Given the description of an element on the screen output the (x, y) to click on. 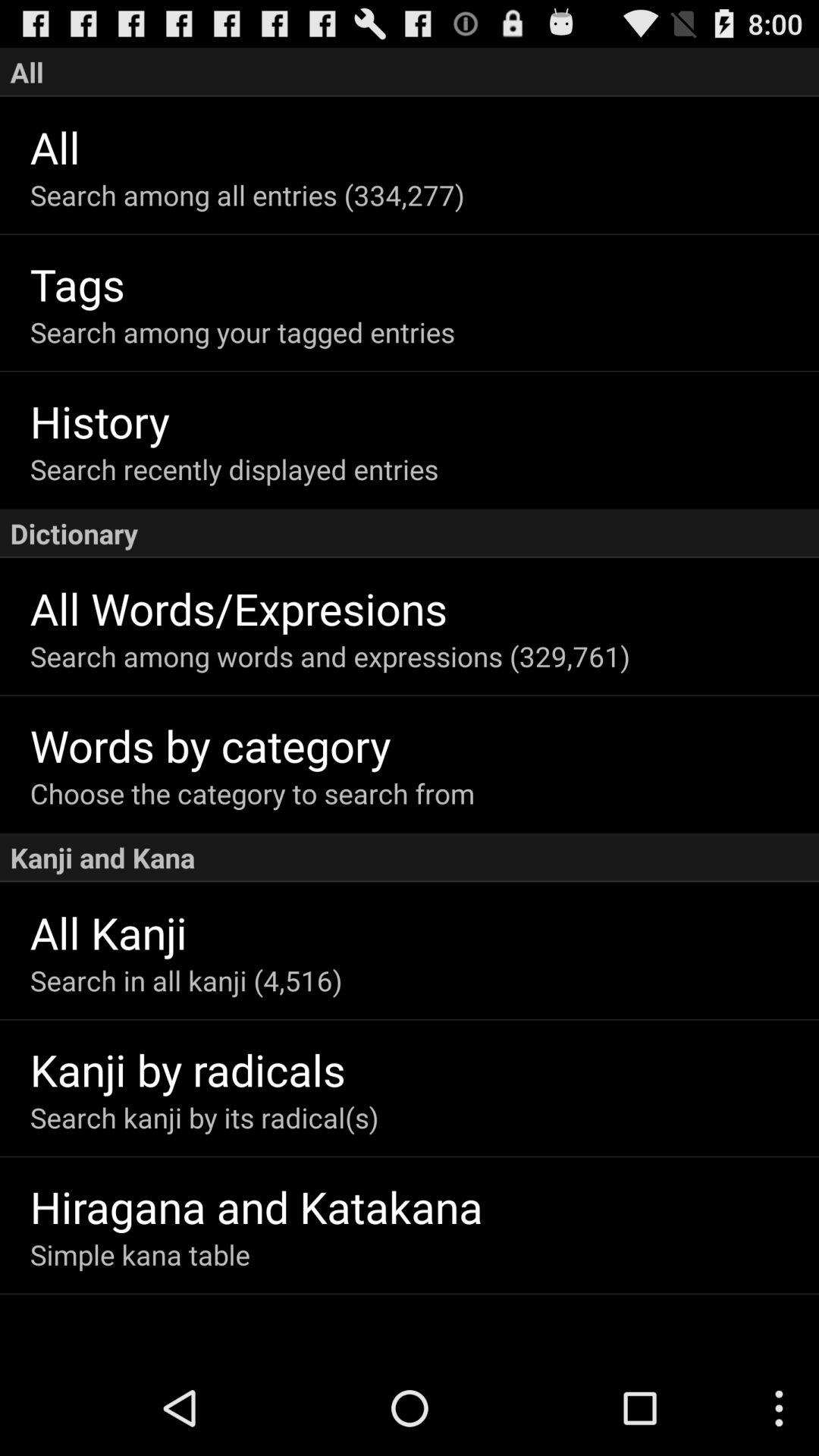
turn off the app above the search among your item (424, 283)
